Given the description of an element on the screen output the (x, y) to click on. 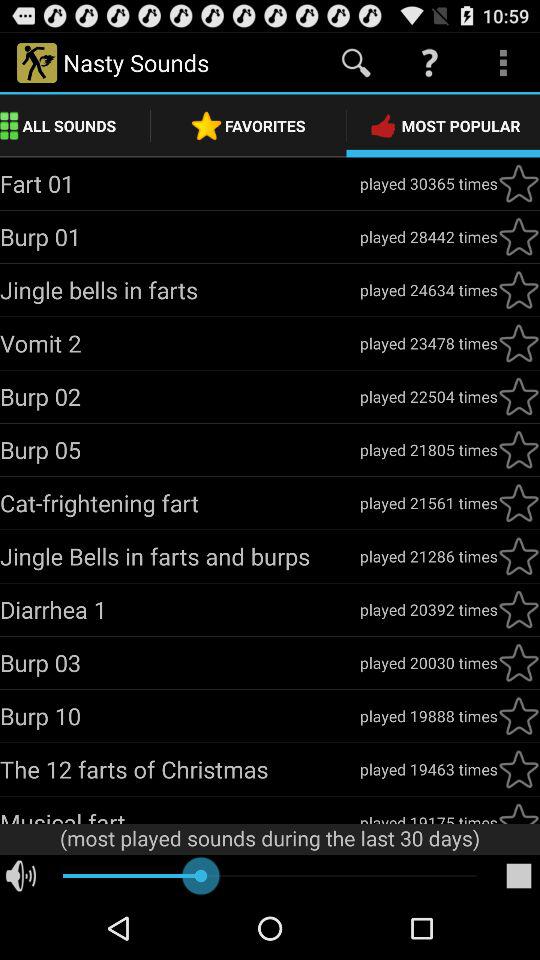
star article (519, 503)
